Given the description of an element on the screen output the (x, y) to click on. 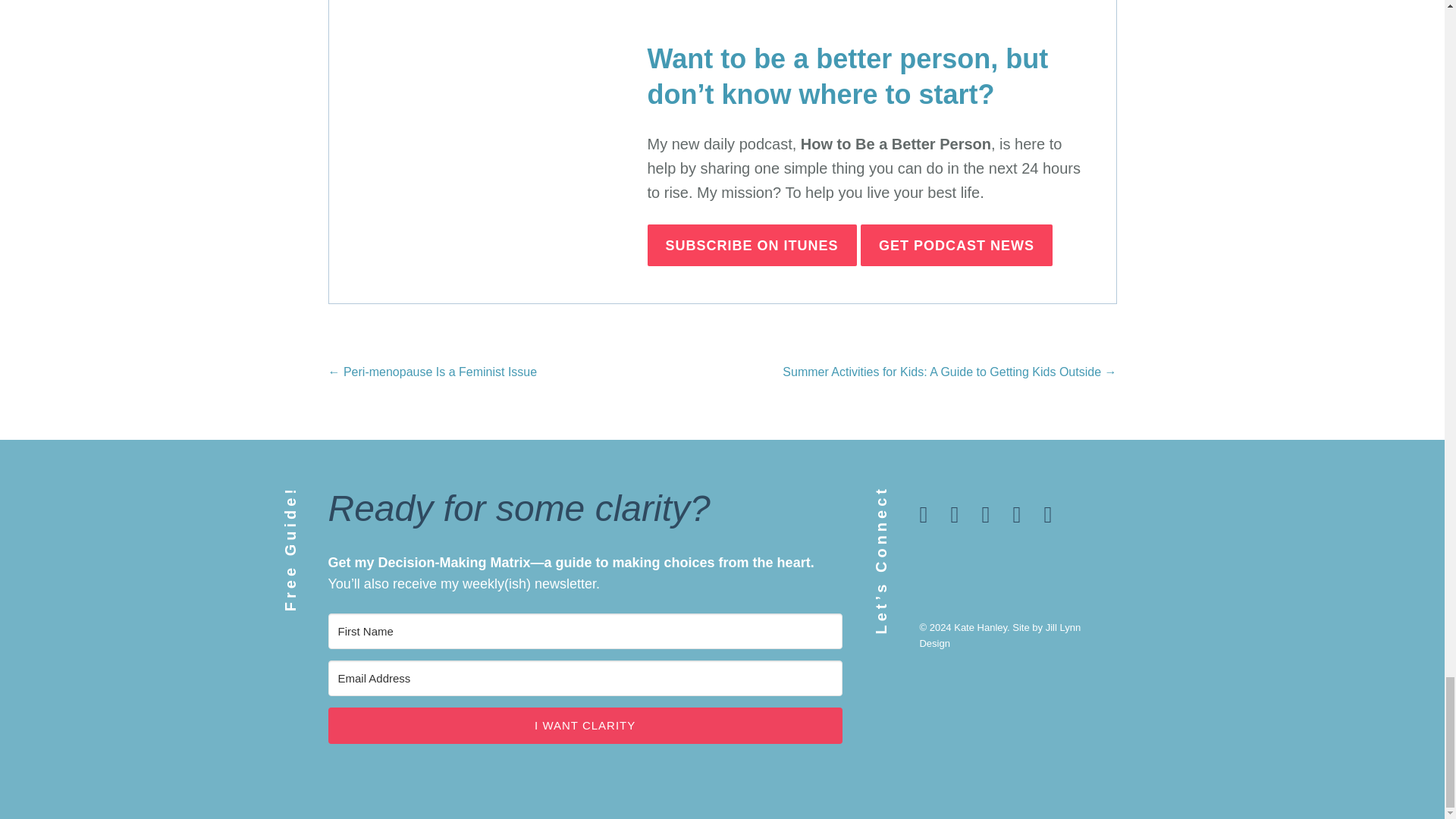
I WANT CLARITY (584, 725)
Site by Jill Lynn Design (999, 635)
GET PODCAST NEWS (956, 245)
Atlanta WordPress Developer (999, 635)
SUBSCRIBE ON ITUNES (752, 245)
